Given the description of an element on the screen output the (x, y) to click on. 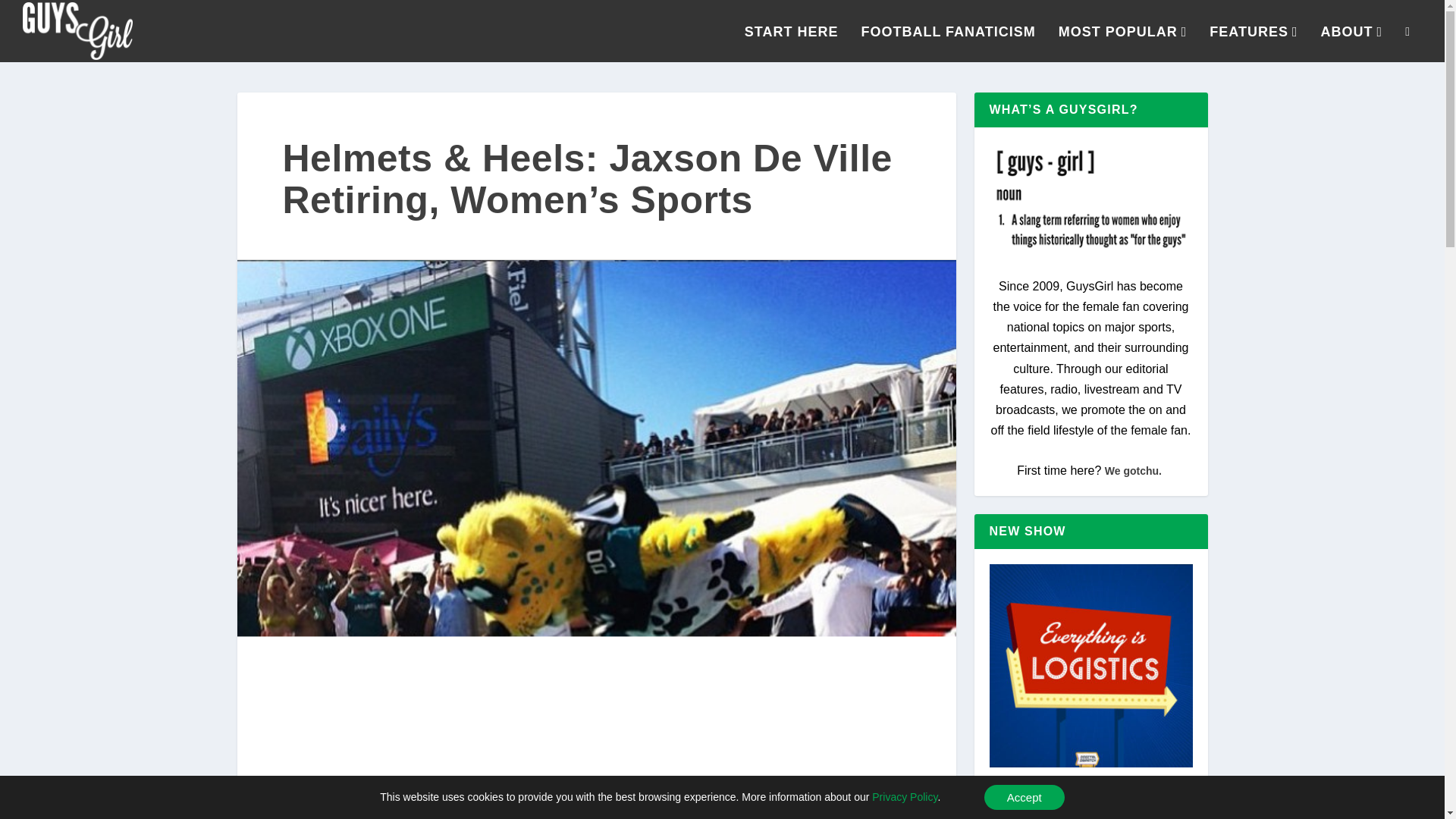
MOST POPULAR (1123, 43)
FOOTBALL FANATICISM (947, 43)
START HERE (791, 43)
ABOUT (1351, 43)
FEATURES (1253, 43)
